Given the description of an element on the screen output the (x, y) to click on. 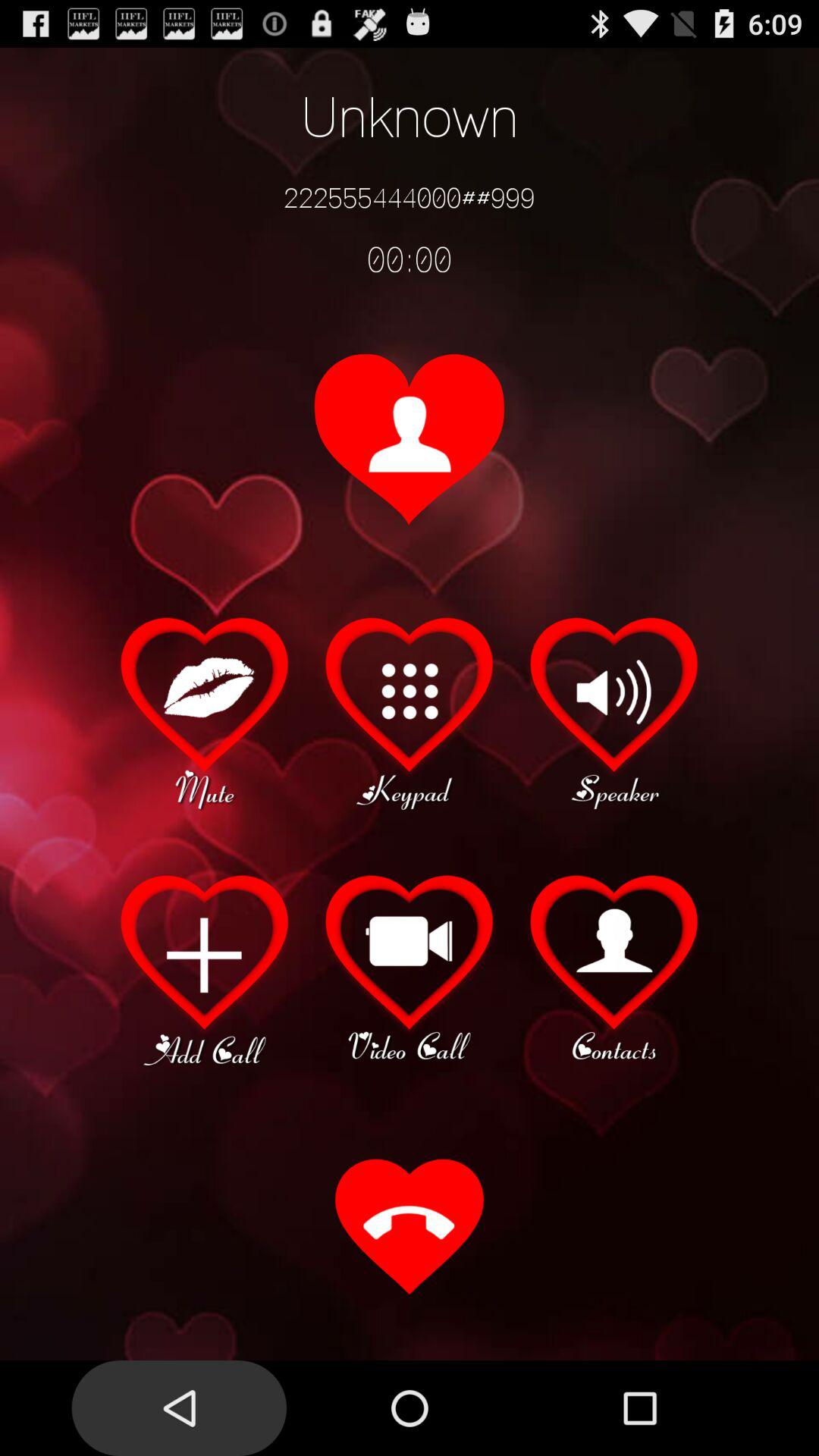
keypad select option (409, 711)
